Given the description of an element on the screen output the (x, y) to click on. 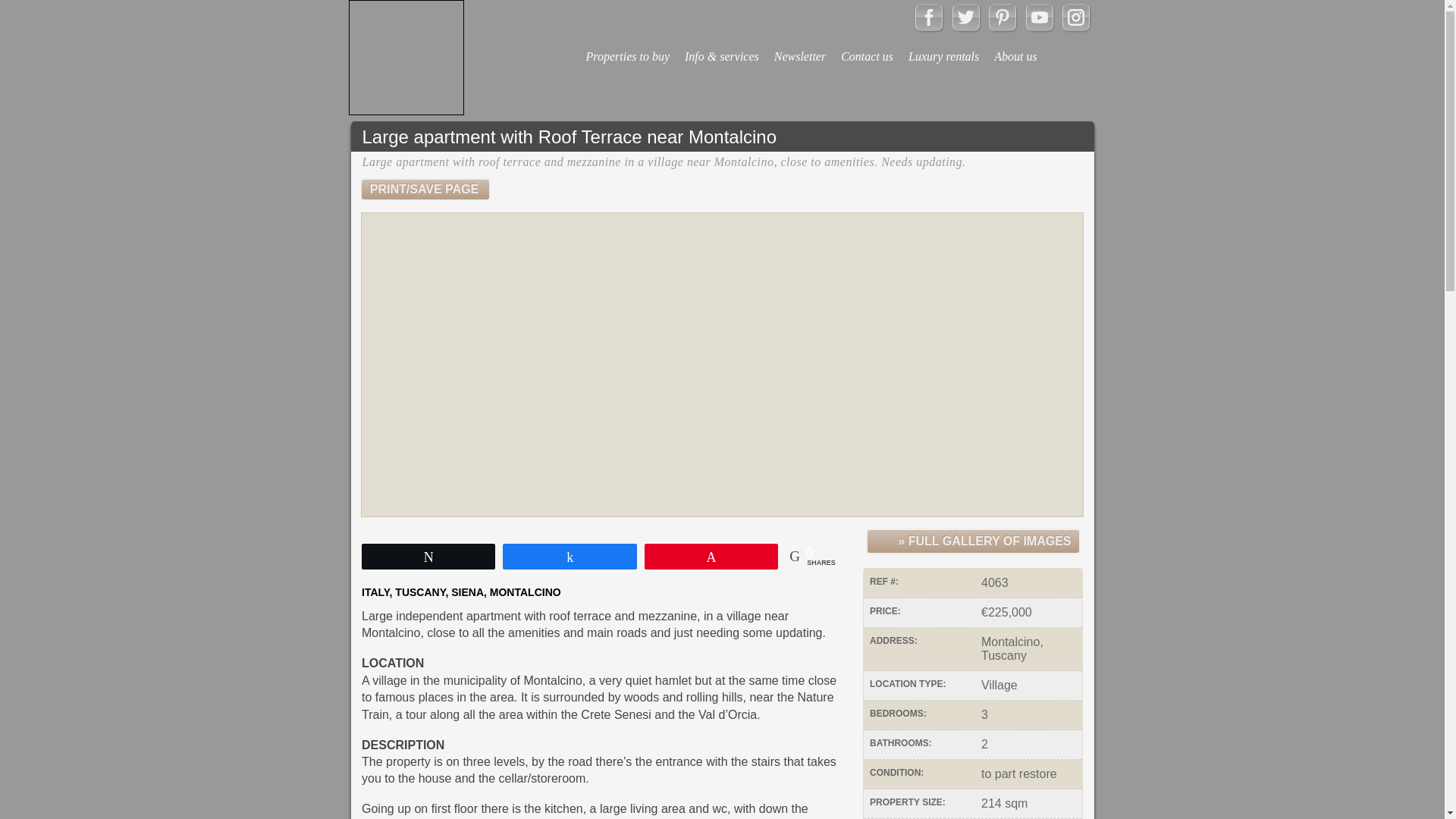
Follow Casa Tuscany on Twitter (965, 17)
Follow Casa Tuscany on Facebook (928, 26)
Luxury rentals (944, 45)
Pinterest Profile (1002, 17)
Pinterest Profile (1002, 26)
YouTube Channel (1039, 17)
Follow Casa Tuscany on Instagram (1075, 17)
Follow Casa Tuscany on Twitter (965, 26)
Contact us (866, 45)
About us (1015, 45)
